Given the description of an element on the screen output the (x, y) to click on. 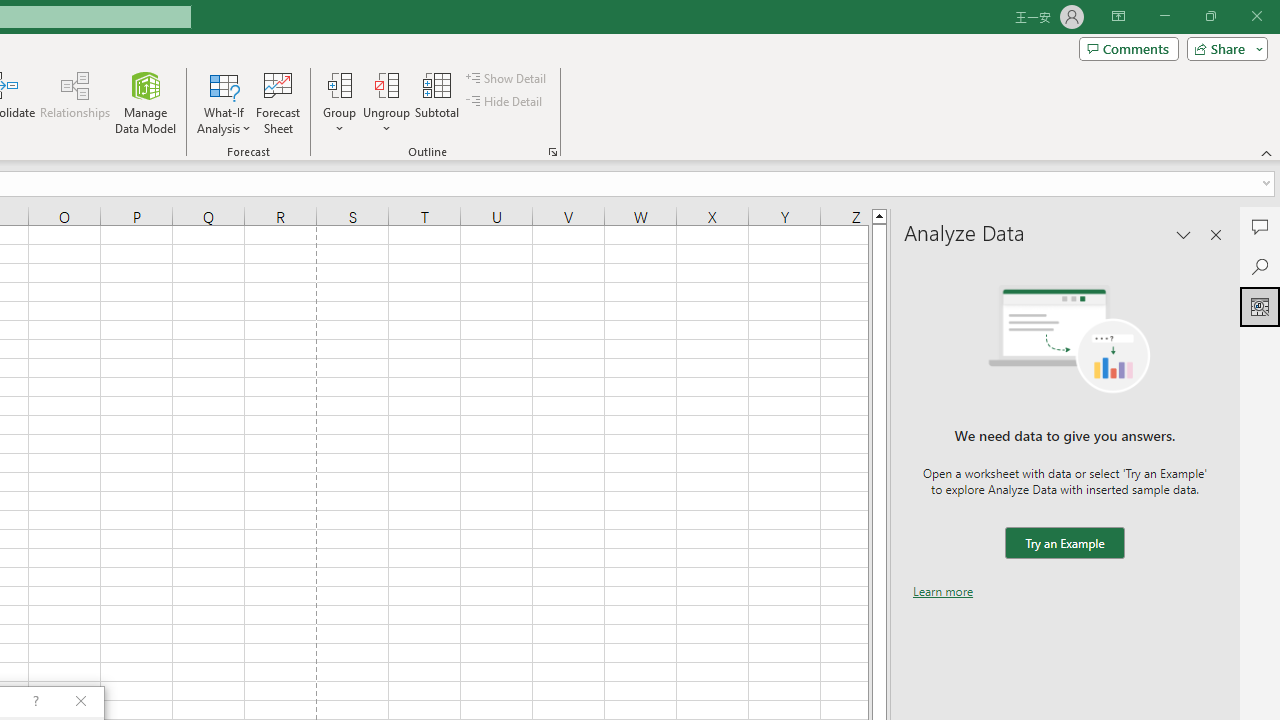
We need data to give you answers. Try an Example (1064, 543)
Forecast Sheet (278, 102)
Subtotal (437, 102)
Relationships (75, 102)
